Given the description of an element on the screen output the (x, y) to click on. 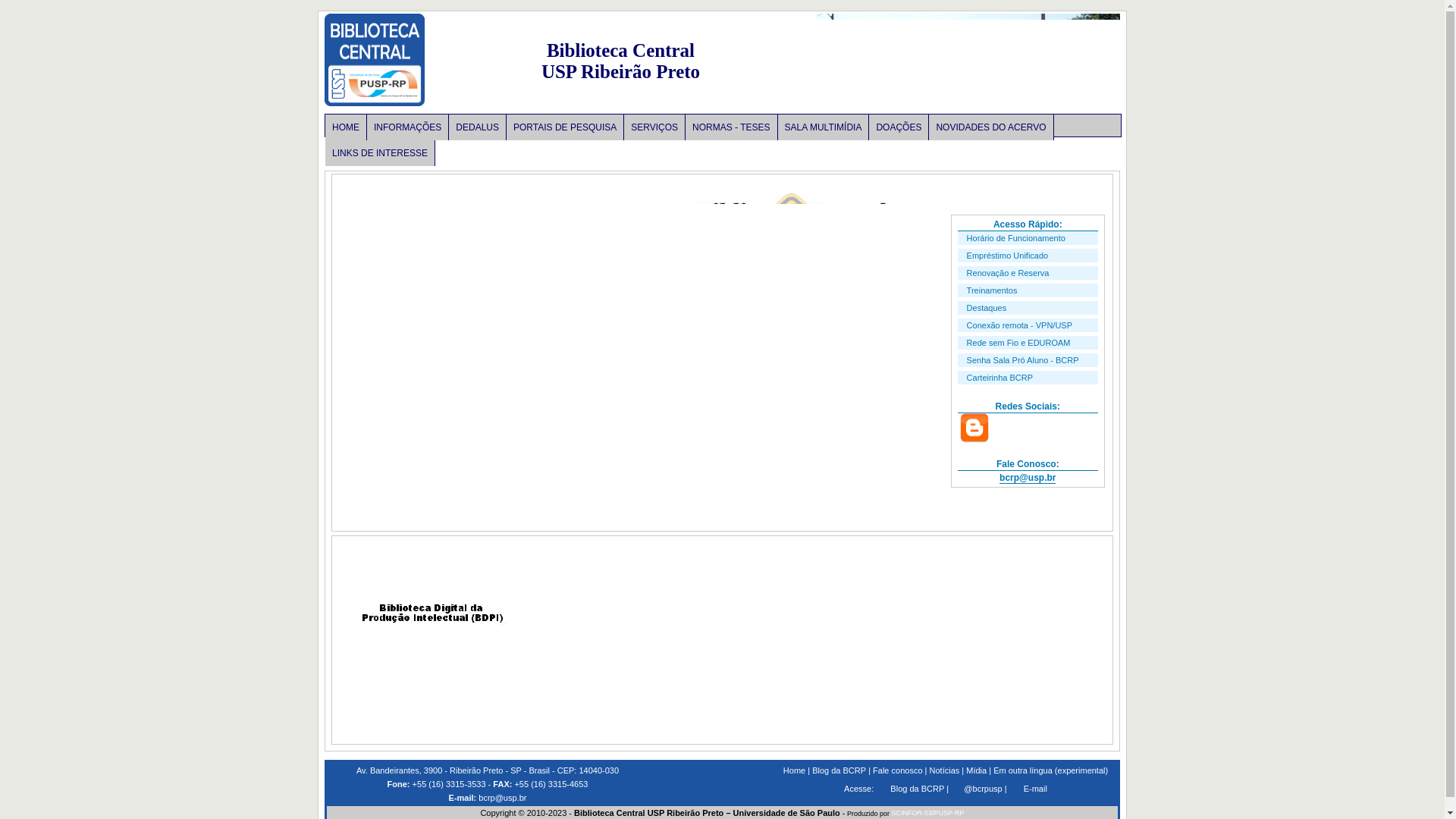
PORTAL DE REVISTAS DA USP Element type: hover (627, 641)
HOME Element type: text (346, 127)
Home Element type: text (794, 770)
DEDALUS Element type: hover (434, 697)
PORTAIS DE PESQUISA Element type: text (565, 127)
NOVIDADES DO ACERVO Element type: text (990, 127)
Cadastro Turnitin Element type: hover (823, 439)
SCINFOR-53/PUSP-RP Element type: text (927, 812)
SISTEMA INTEGRADO DE BIBLIOTECAS Element type: hover (434, 537)
Fale conosco Element type: text (897, 770)
Blog da BCRP Element type: text (917, 788)
DEDALUS Element type: text (477, 127)
Destaques Element type: text (986, 307)
NORMAS - TESES Element type: text (731, 127)
PUBMED Element type: hover (819, 691)
E-mail Element type: text (1035, 788)
Carteirinha BCRP Element type: text (999, 377)
Treinamentos Element type: text (991, 289)
MINHA BIBLIOTECA Element type: hover (1011, 536)
bcrp@usp.br Element type: text (501, 797)
SCIFINDER WEB Element type: hover (1011, 599)
ENDNOTE WEB Element type: hover (819, 651)
Turnitin Element type: hover (434, 639)
@bcrpusp Element type: text (982, 788)
Blog da BCRP Element type: text (839, 770)
Rede sem Fio e EDUROAM Element type: text (1018, 342)
SCIENTIFIC ELECTRONIC LIBRARY ONLINE Element type: hover (627, 588)
LINKS DE INTERESSE Element type: text (380, 153)
MENDELEY Element type: hover (819, 588)
bcrp@usp.br Element type: text (1027, 477)
